Given the description of an element on the screen output the (x, y) to click on. 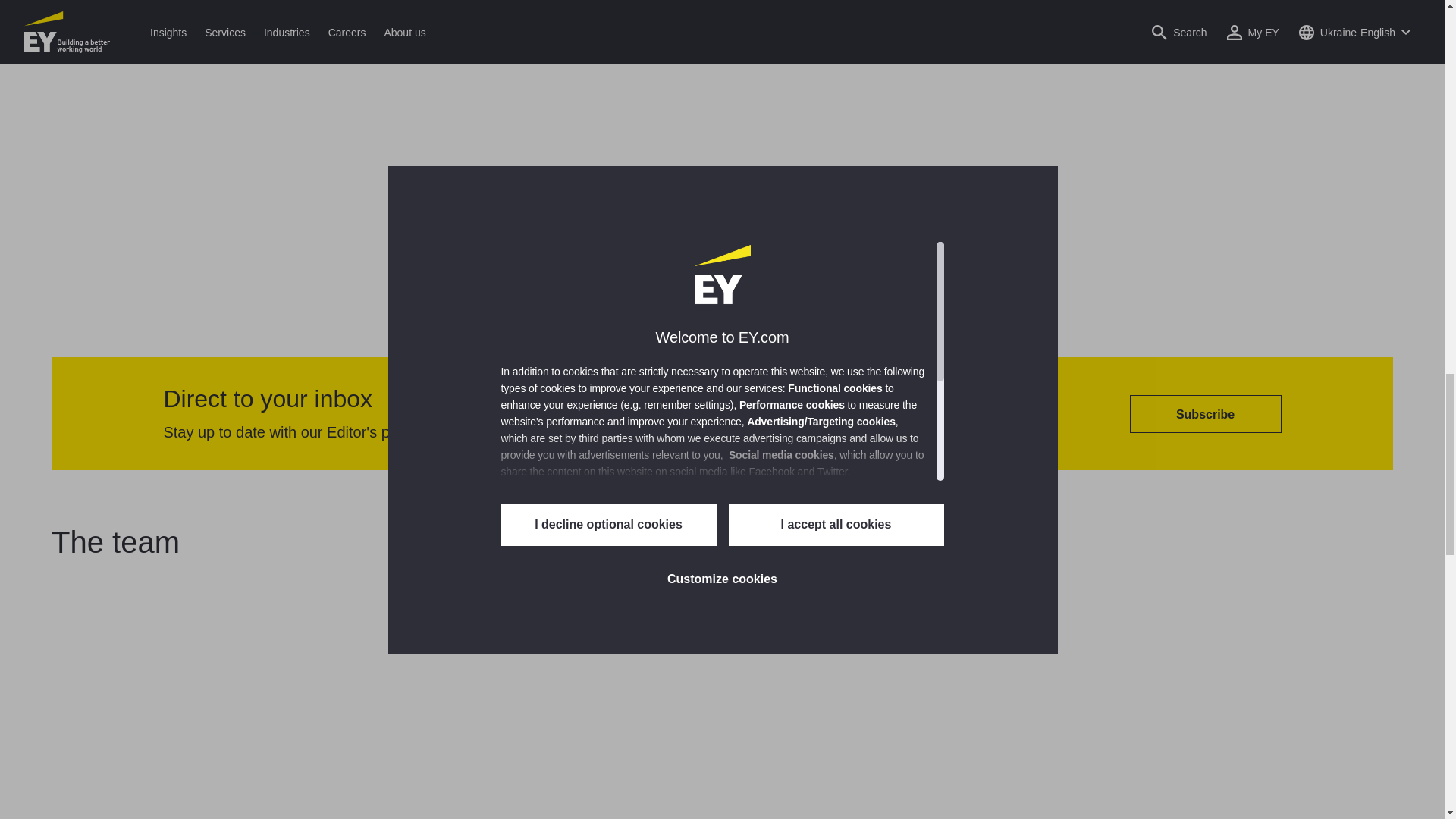
Subscribe (1205, 413)
